Given the description of an element on the screen output the (x, y) to click on. 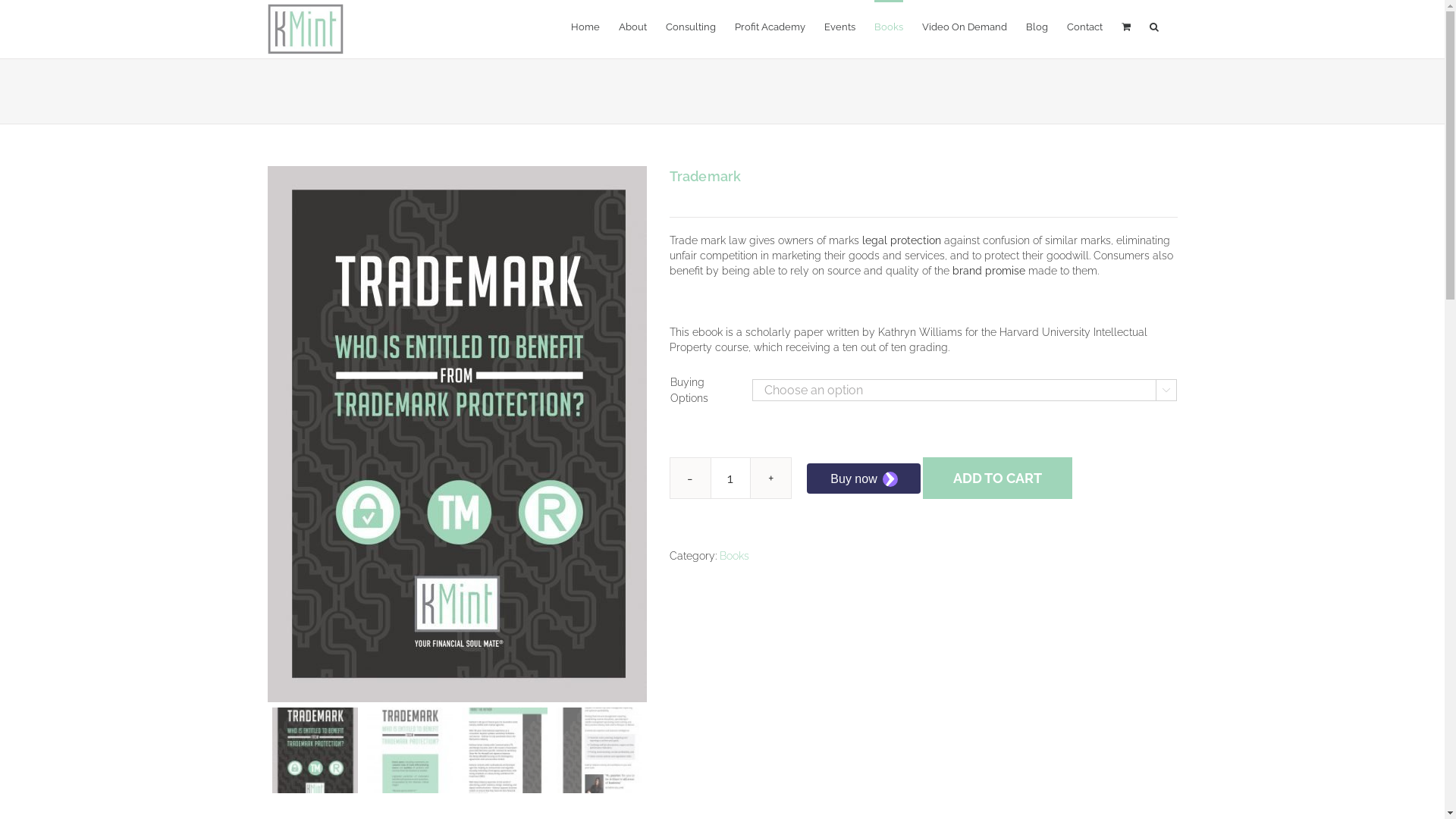
Events Element type: text (838, 25)
Consulting Element type: text (690, 25)
Contact Element type: text (1083, 25)
Video On Demand Element type: text (964, 25)
About Element type: text (632, 25)
Books Element type: text (733, 555)
Home Element type: text (584, 25)
Profit Academy Element type: text (769, 25)
KMINT-Trademark-Cover-1080x1536pxl-RGB Element type: hover (456, 434)
Search Element type: hover (1153, 25)
Books Element type: text (887, 25)
ADD TO CART Element type: text (997, 478)
Secure payment button frame Element type: hover (863, 478)
Blog Element type: text (1036, 25)
